Given the description of an element on the screen output the (x, y) to click on. 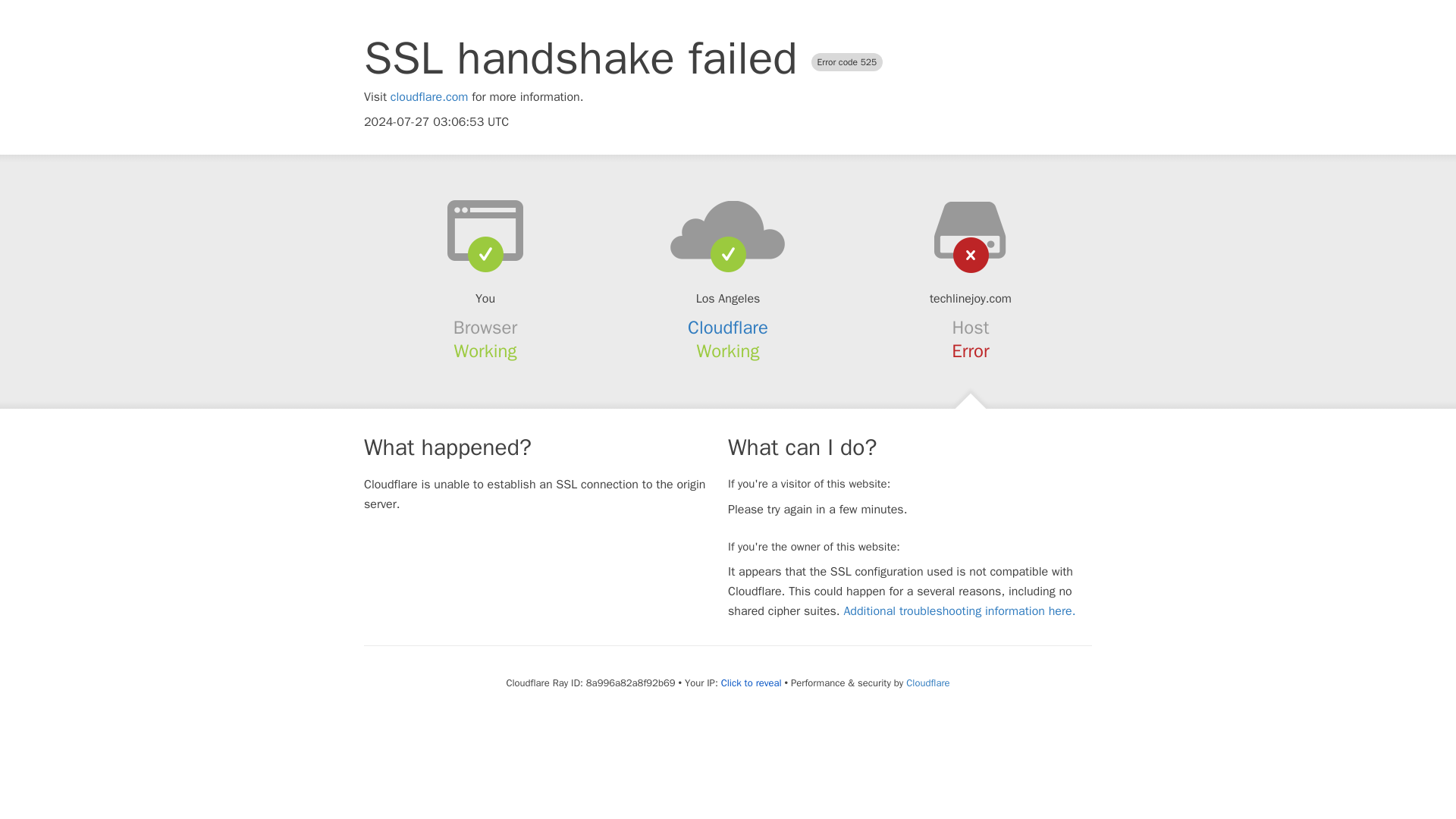
cloudflare.com (429, 96)
Click to reveal (750, 683)
Additional troubleshooting information here. (959, 611)
Cloudflare (927, 682)
Cloudflare (727, 327)
